Given the description of an element on the screen output the (x, y) to click on. 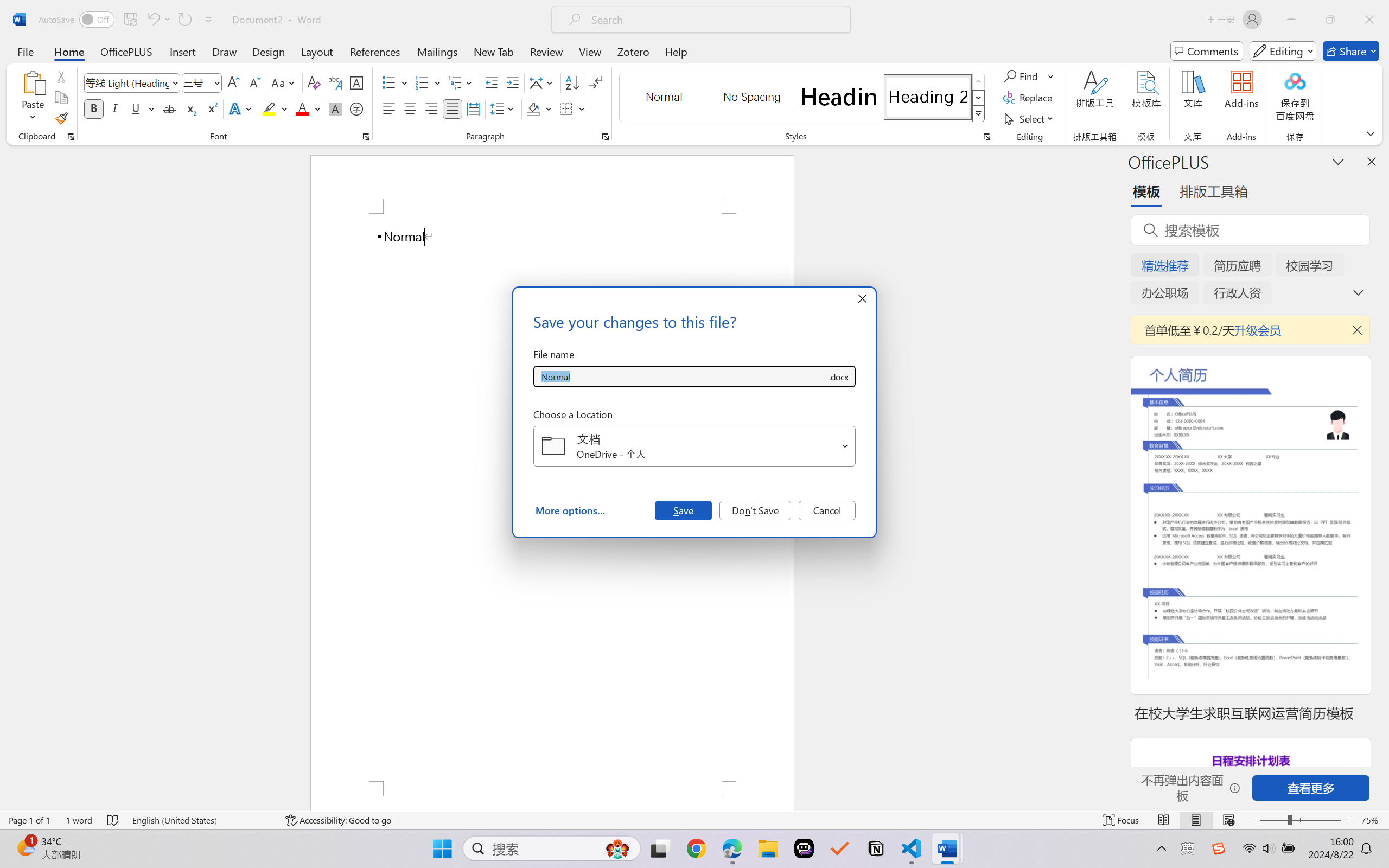
AutoSave (76, 19)
View (589, 51)
Print Layout (1196, 819)
Undo Typing (158, 19)
References (375, 51)
Paste (33, 97)
Row up (978, 81)
Justify (452, 108)
Microsoft search (715, 19)
Heading 2 (927, 96)
AutomationID: QuickStylesGallery (802, 97)
Save as type (837, 376)
Bullets (395, 82)
